Given the description of an element on the screen output the (x, y) to click on. 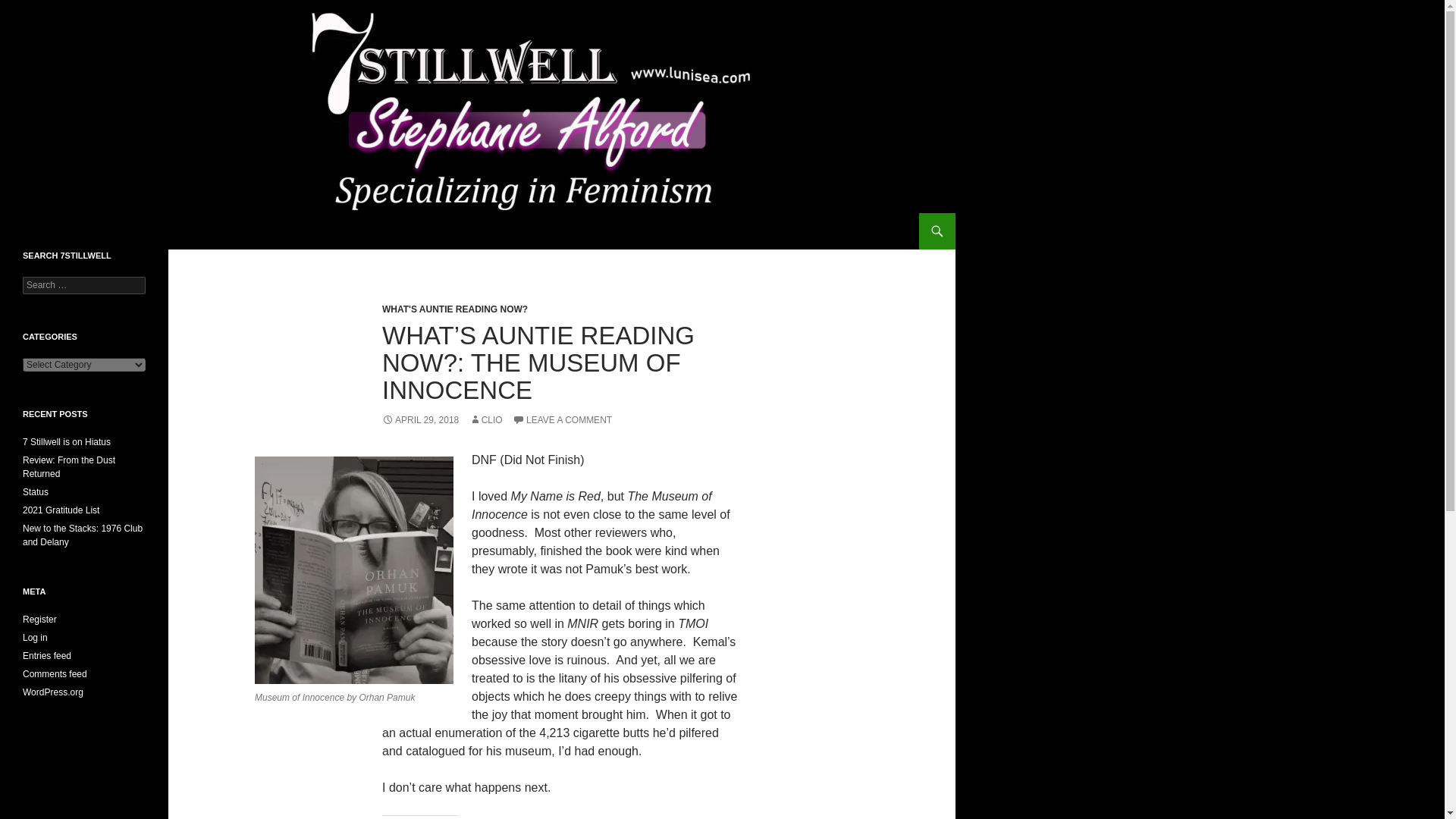
Entries feed (47, 655)
7 Stillwell is on Hiatus (66, 441)
New to the Stacks: 1976 Club and Delany (82, 535)
LEAVE A COMMENT (561, 419)
CLIO (485, 419)
7 Stillwell (53, 230)
Register (39, 619)
Search (30, 8)
Status (35, 491)
Review: From the Dust Returned (69, 467)
2021 Gratitude List (61, 510)
Comments feed (55, 674)
APRIL 29, 2018 (419, 419)
Log in (35, 637)
